Given the description of an element on the screen output the (x, y) to click on. 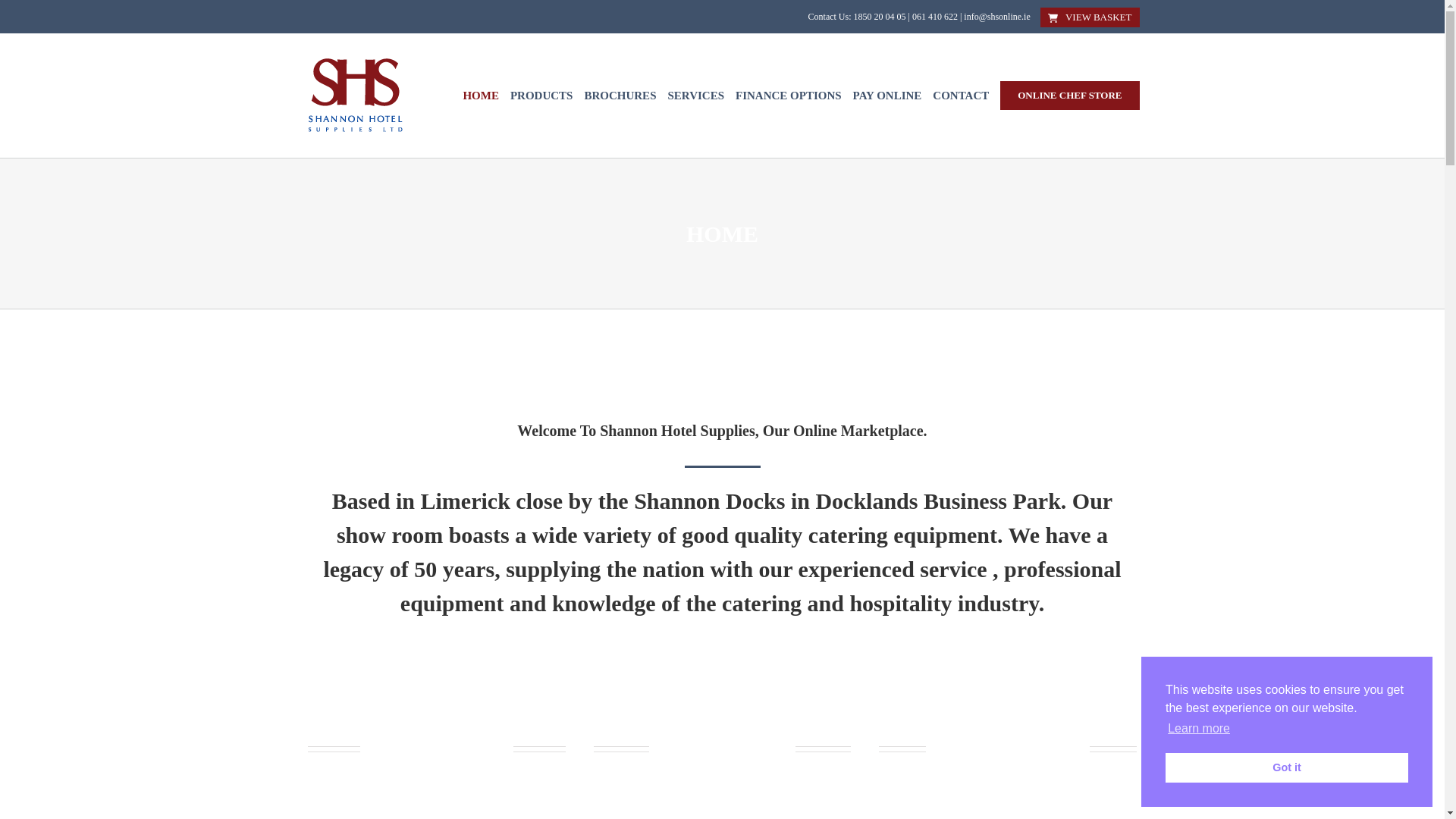
061 410 622 (935, 16)
1850 20 04 05 (879, 16)
VIEW BASKET (1090, 17)
